Given the description of an element on the screen output the (x, y) to click on. 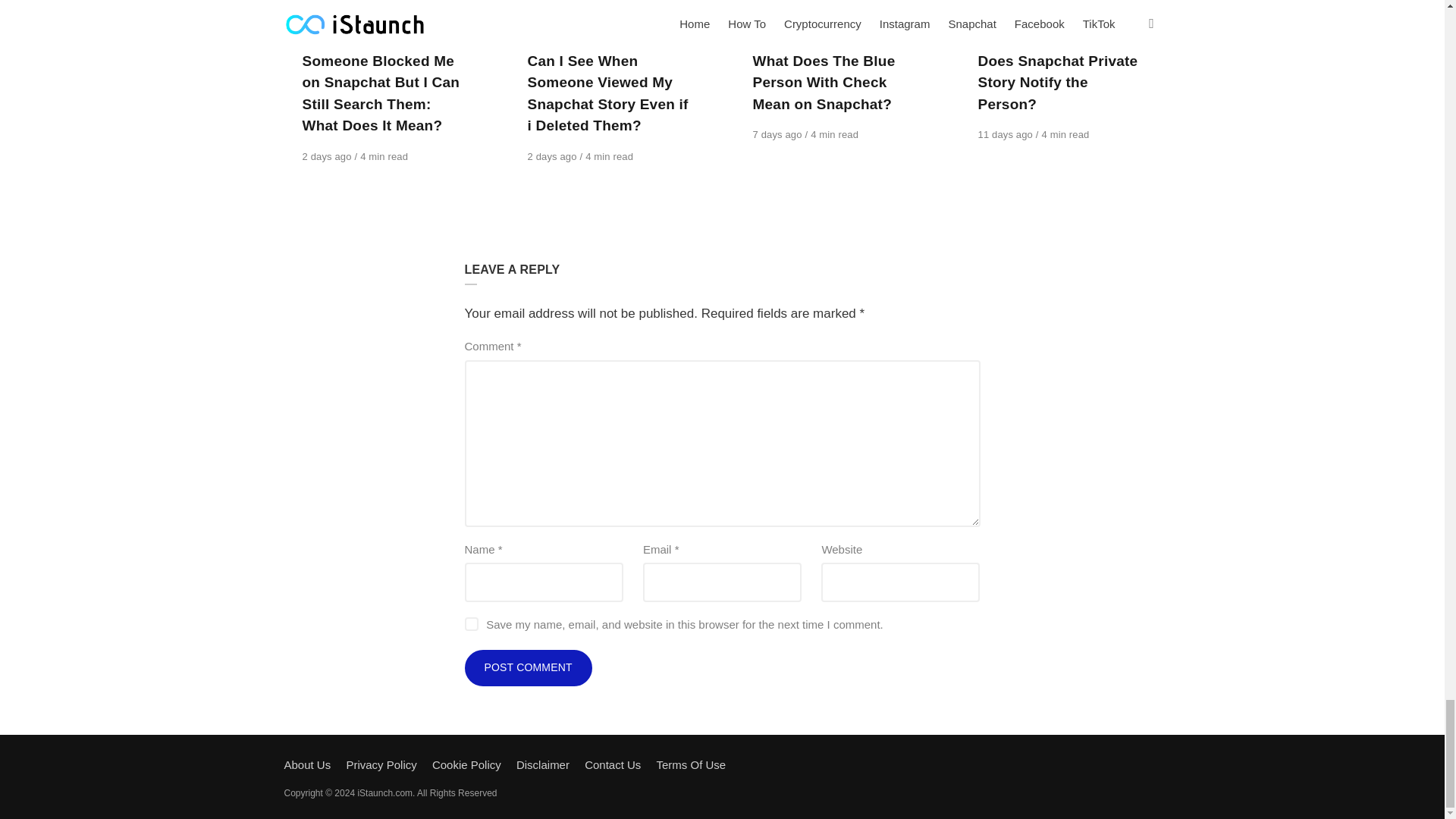
Post Comment (527, 668)
August 17, 2024 (553, 156)
August 12, 2024 (778, 134)
August 17, 2024 (327, 156)
yes (470, 623)
August 8, 2024 (1006, 134)
